Given the description of an element on the screen output the (x, y) to click on. 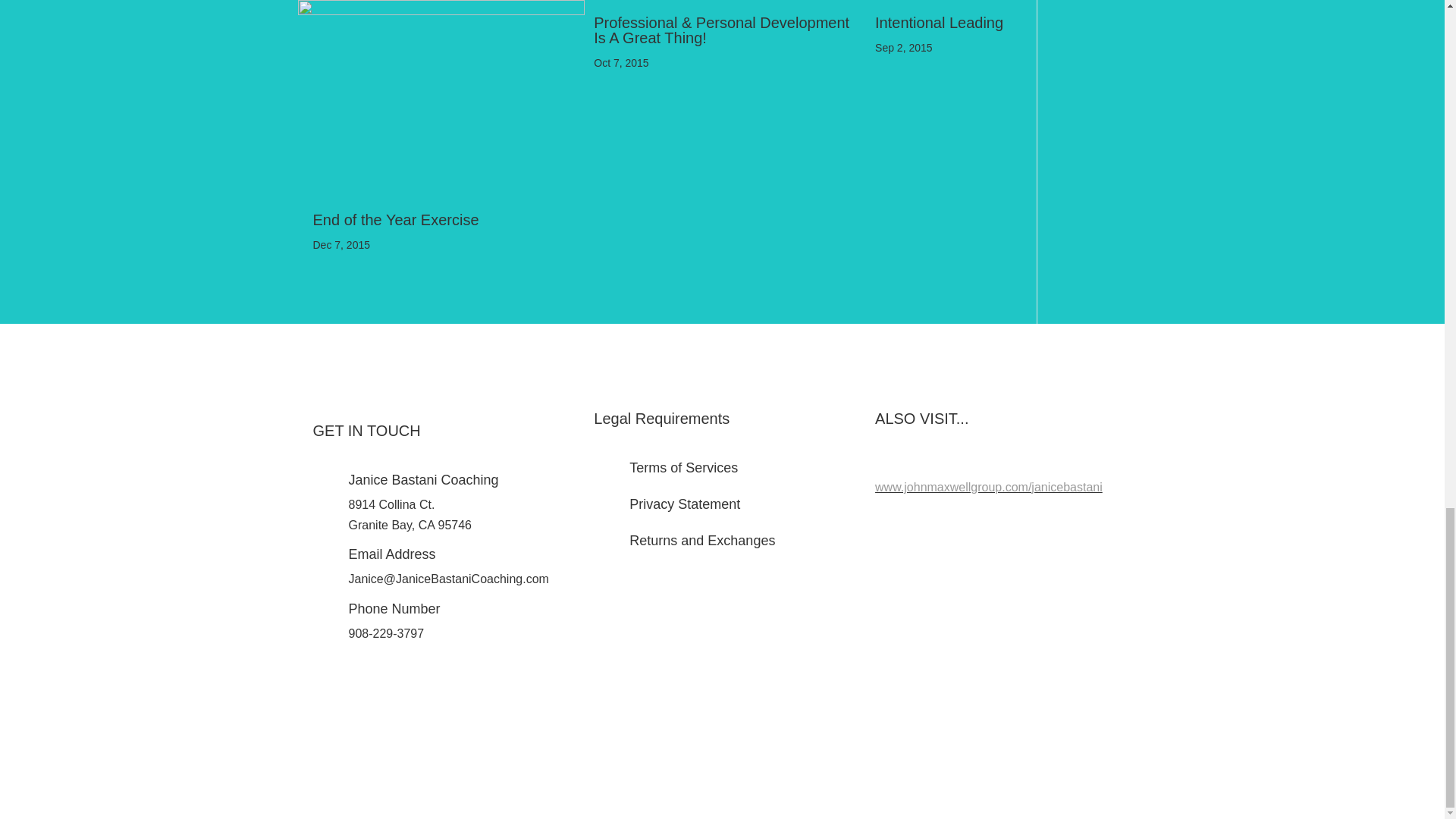
End of the Year Exercise (396, 219)
Follow on Facebook (675, 713)
Follow on Twitter (706, 713)
Intentional Leading (939, 22)
Follow on LinkedIn (737, 713)
Follow on Pinterest (766, 713)
